Given the description of an element on the screen output the (x, y) to click on. 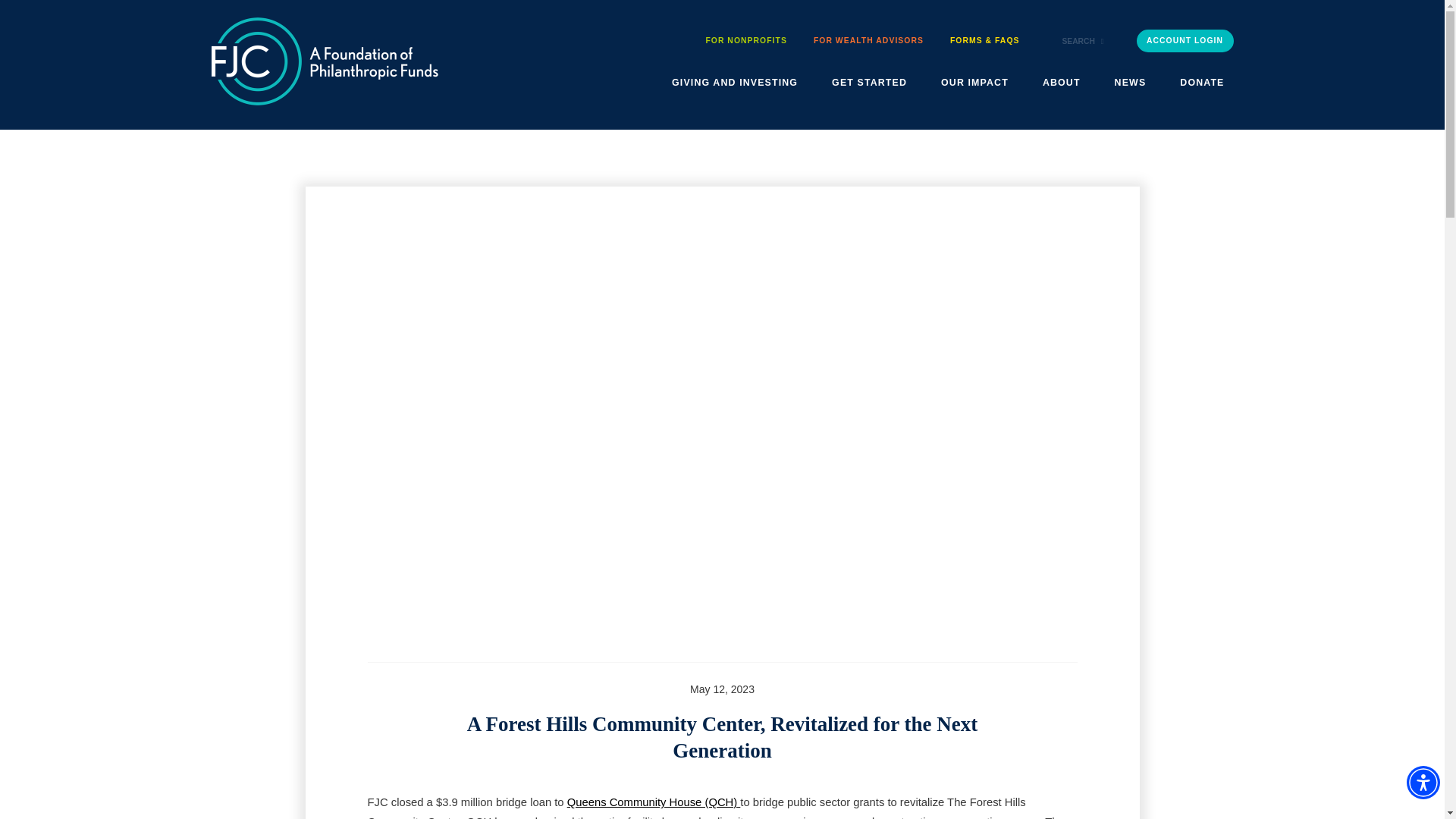
DONATE (1201, 83)
FOR NONPROFITS (745, 42)
ACCOUNT LOGIN (1184, 40)
OUR IMPACT (974, 83)
Account Login (1184, 40)
FJC (324, 61)
NEWS (1130, 83)
FOR WEALTH ADVISORS (868, 42)
GET STARTED (868, 83)
ABOUT (1061, 83)
GIVING AND INVESTING (734, 83)
SEARCH (1082, 40)
Accessibility Menu (1422, 782)
